Given the description of an element on the screen output the (x, y) to click on. 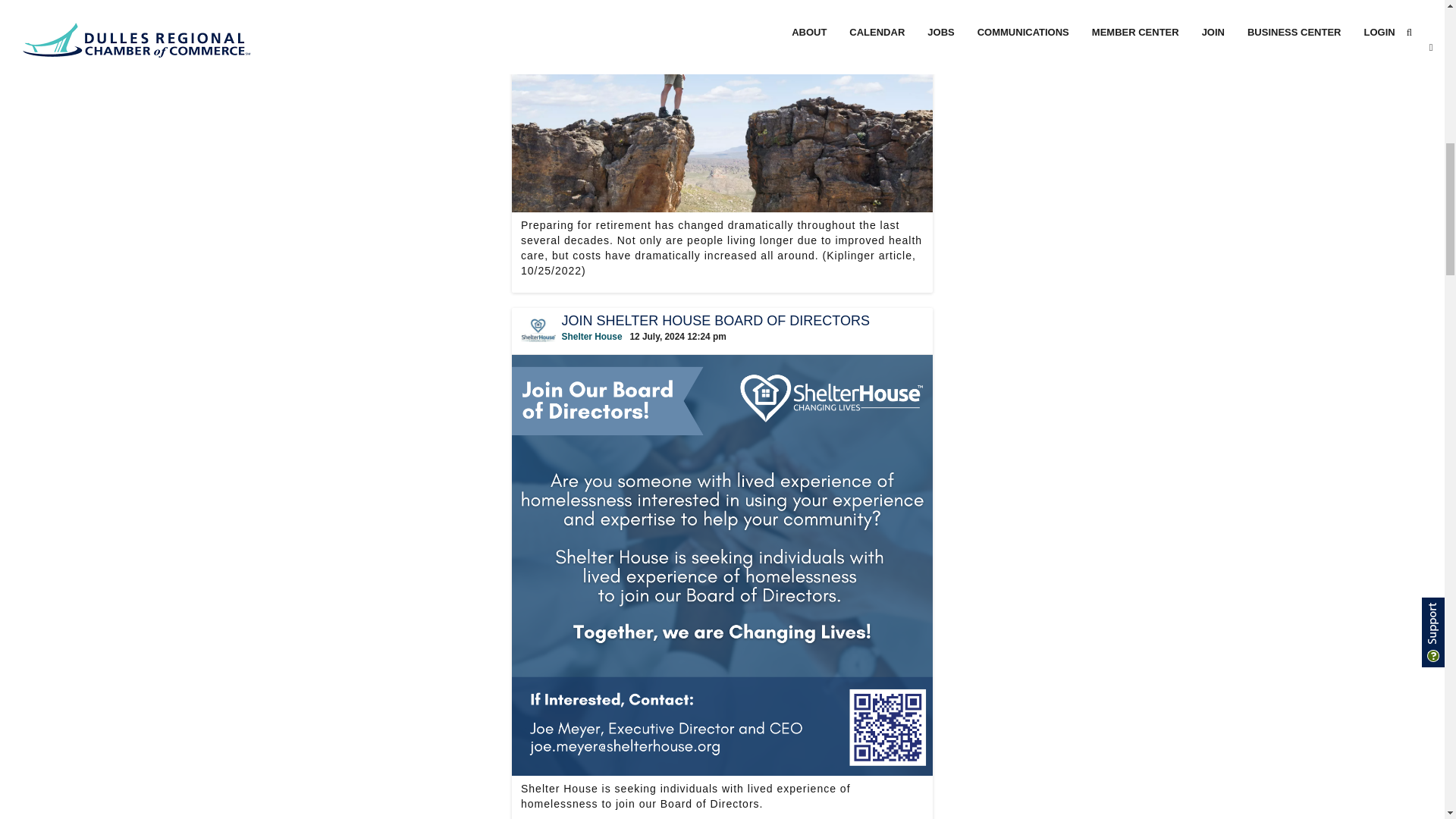
JOIN SHELTER HOUSE BOARD OF DIRECTORS (739, 327)
Shelter House (592, 336)
